Given the description of an element on the screen output the (x, y) to click on. 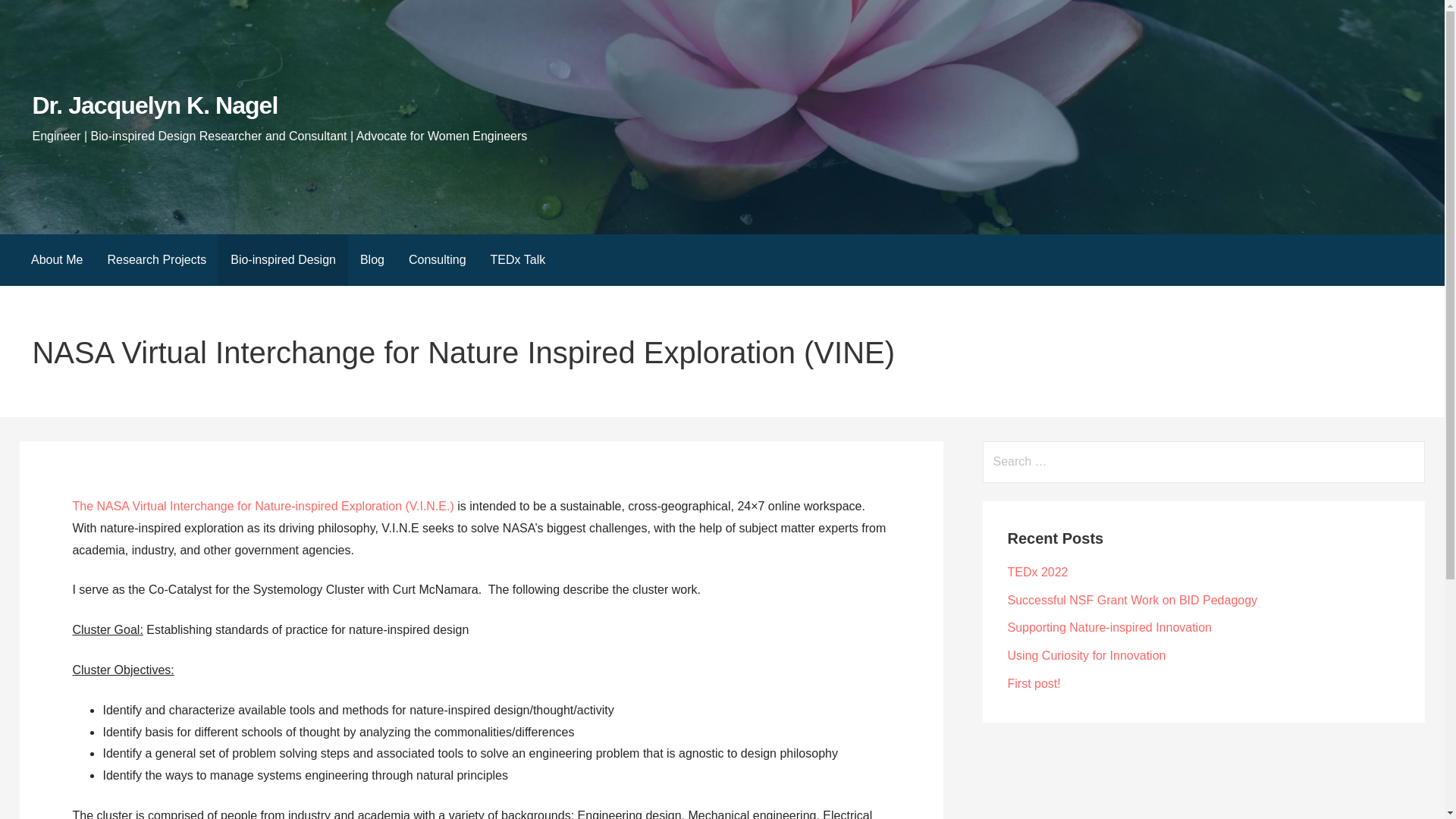
First post! (1033, 683)
TEDx Talk (518, 259)
Research Projects (156, 259)
About Me (56, 259)
Search (31, 15)
Using Curiosity for Innovation (1086, 655)
Blog (371, 259)
Successful NSF Grant Work on BID Pedagogy (1132, 599)
TEDx 2022 (1037, 571)
Bio-inspired Design (282, 259)
